Given the description of an element on the screen output the (x, y) to click on. 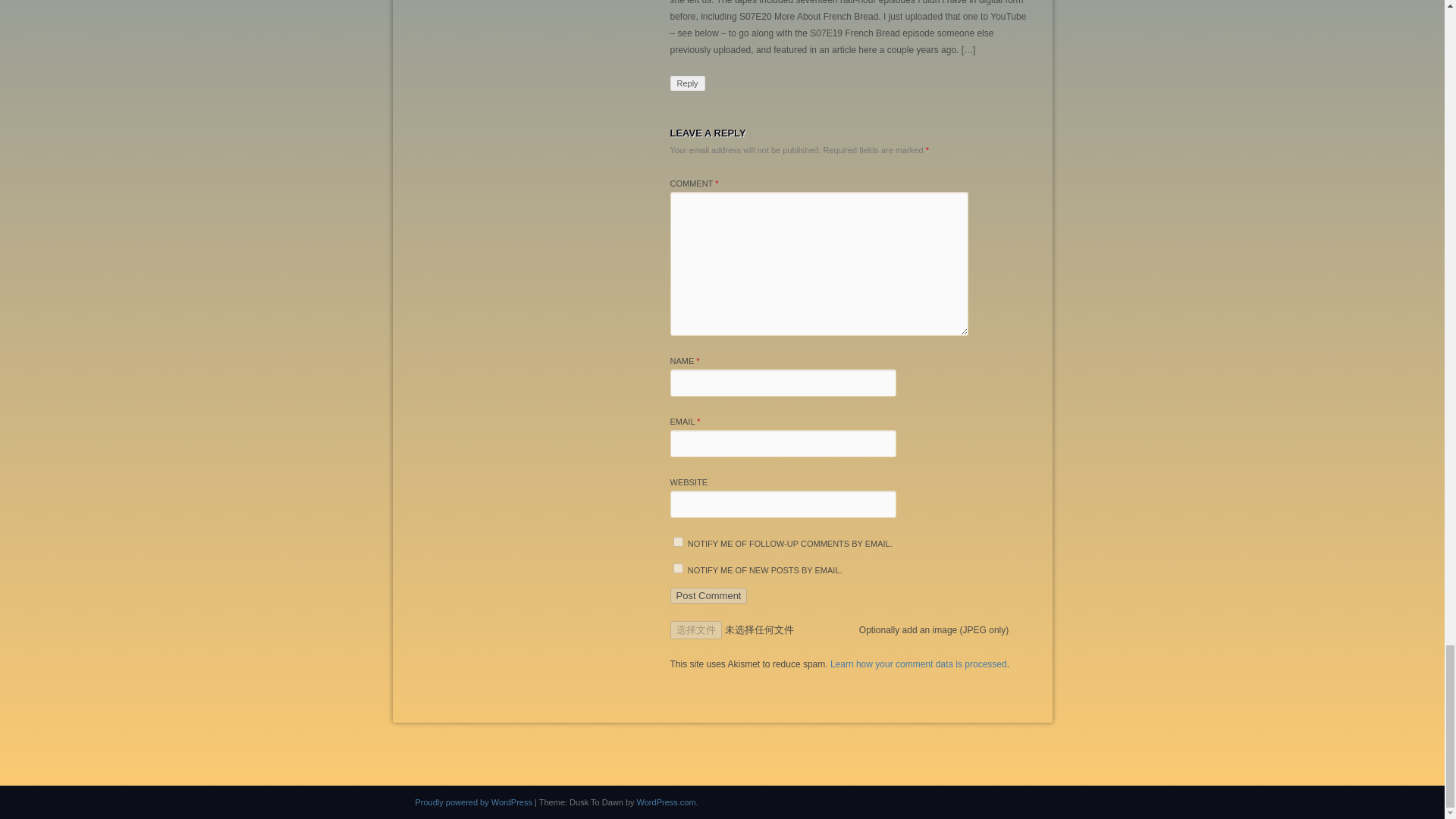
Post Comment (708, 595)
subscribe (677, 542)
subscribe (677, 568)
Learn how your comment data is processed (918, 664)
Reply (686, 83)
Post Comment (708, 595)
